Given the description of an element on the screen output the (x, y) to click on. 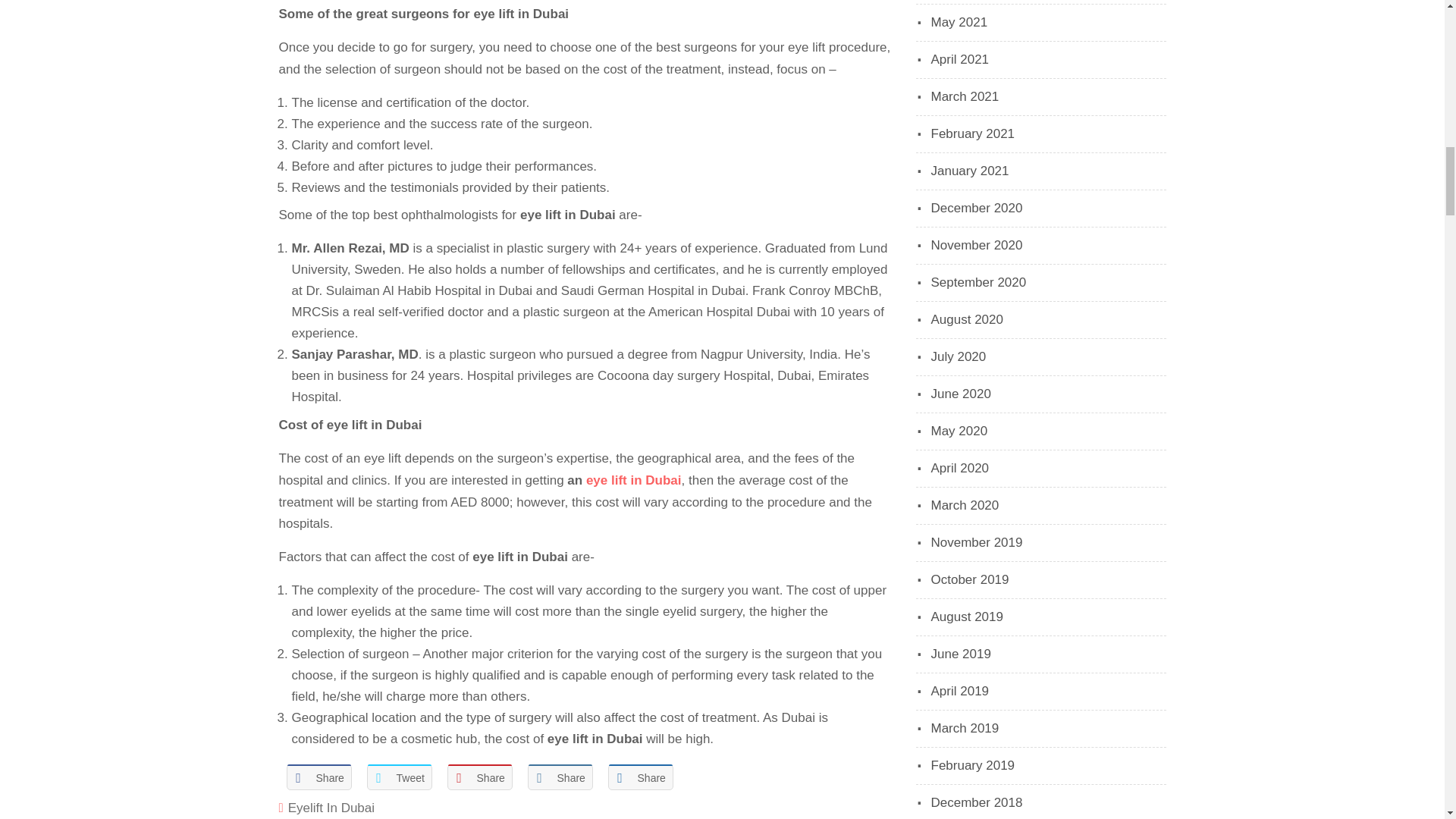
Share (640, 777)
Share on Digg (640, 777)
Share on Facebook (319, 777)
Share on Pinterest (479, 777)
Share on LinkedIn (559, 777)
Share (479, 777)
eye lift in Dubai (633, 480)
Share (559, 777)
Tweet (399, 777)
Share on Twitter (399, 777)
